Given the description of an element on the screen output the (x, y) to click on. 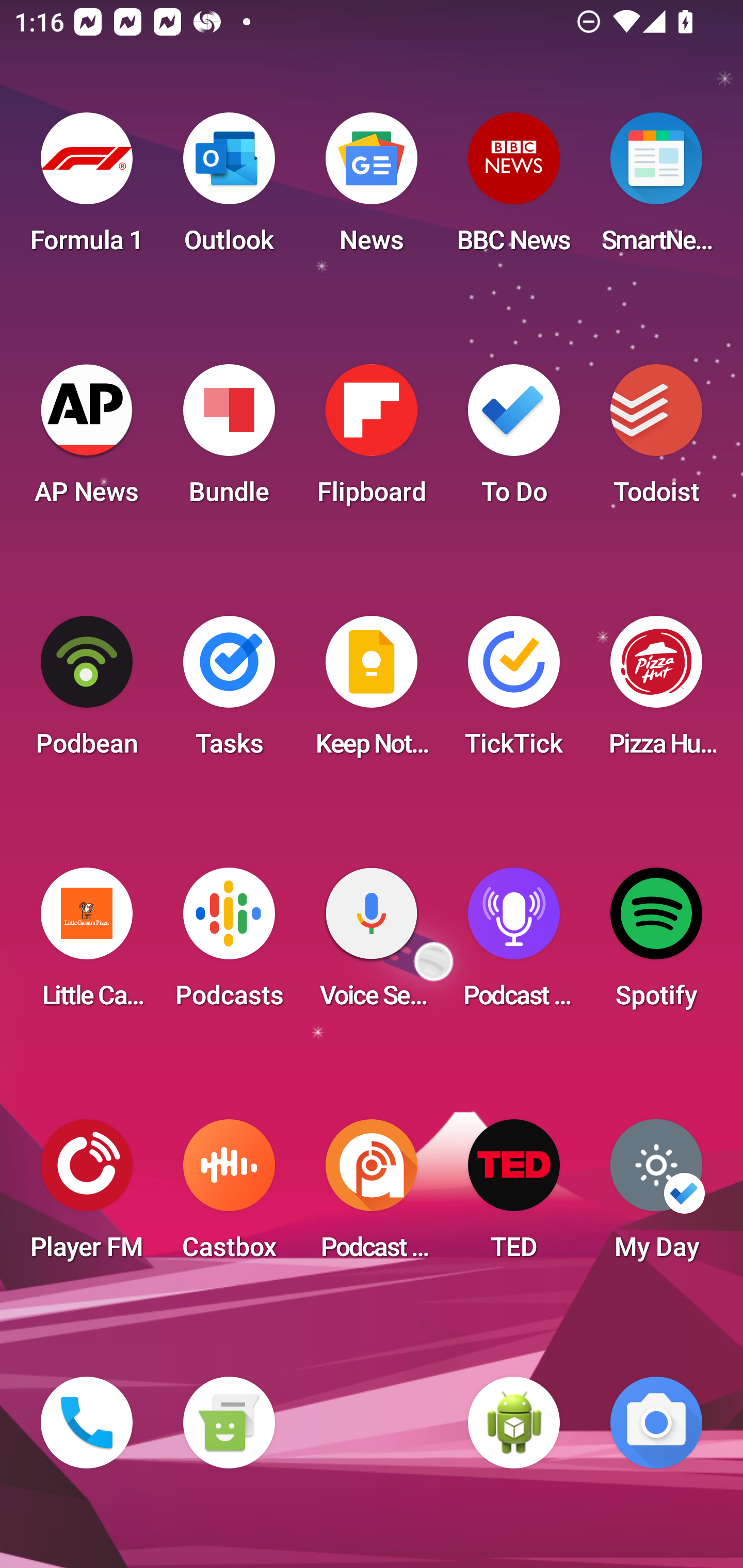
Formula 1 (86, 188)
Outlook (228, 188)
News (371, 188)
BBC News (513, 188)
SmartNews (656, 188)
AP News (86, 440)
Bundle (228, 440)
Flipboard (371, 440)
To Do (513, 440)
Todoist (656, 440)
Podbean (86, 692)
Tasks (228, 692)
Keep Notes (371, 692)
TickTick (513, 692)
Pizza Hut HK & Macau (656, 692)
Little Caesars Pizza (86, 943)
Podcasts (228, 943)
Voice Search (371, 943)
Podcast Player (513, 943)
Spotify (656, 943)
Player FM (86, 1195)
Castbox (228, 1195)
Podcast Addict (371, 1195)
TED (513, 1195)
My Day (656, 1195)
Phone (86, 1422)
Messaging (228, 1422)
WebView Browser Tester (513, 1422)
Camera (656, 1422)
